Given the description of an element on the screen output the (x, y) to click on. 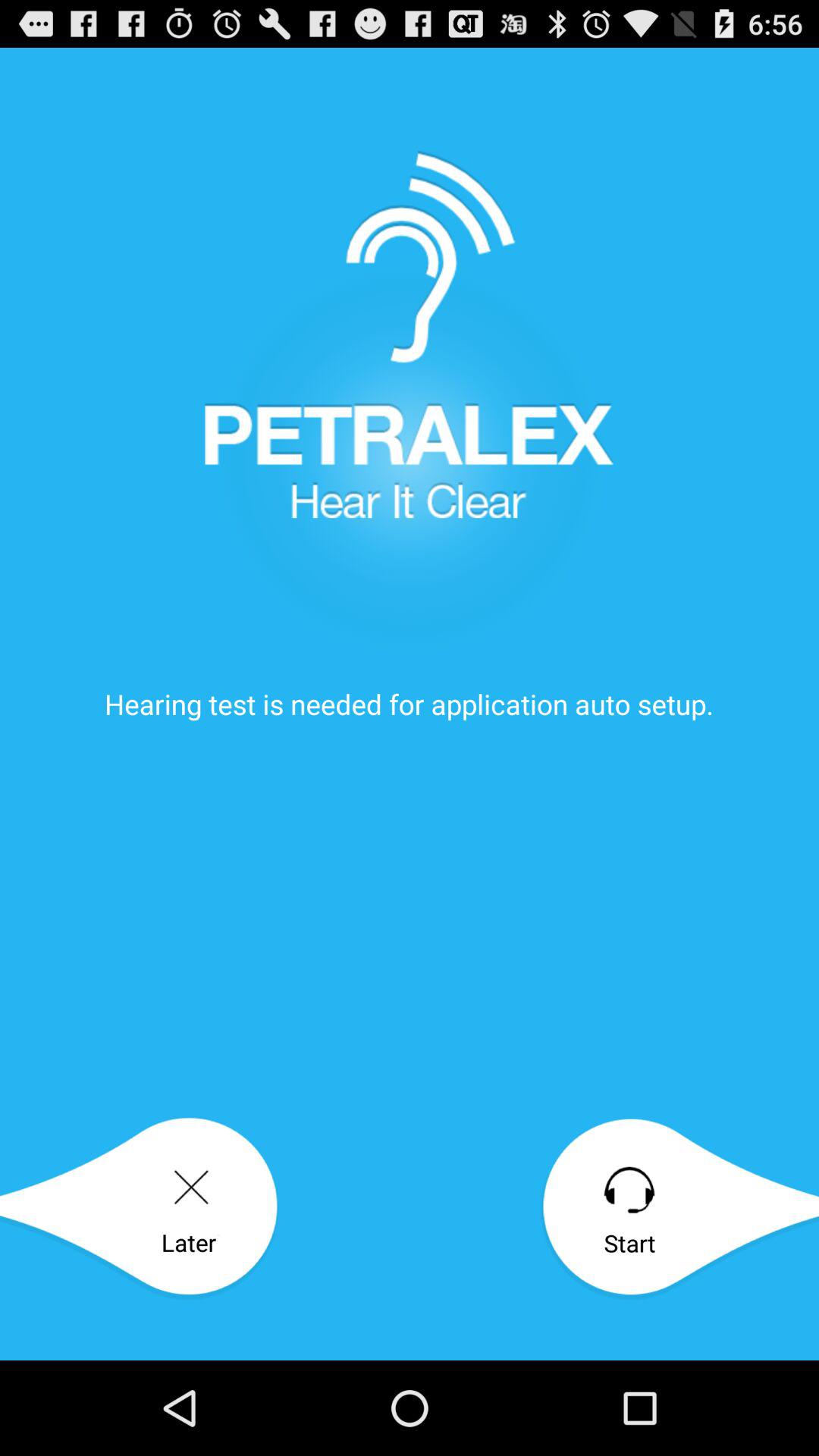
flip to the start item (679, 1208)
